Given the description of an element on the screen output the (x, y) to click on. 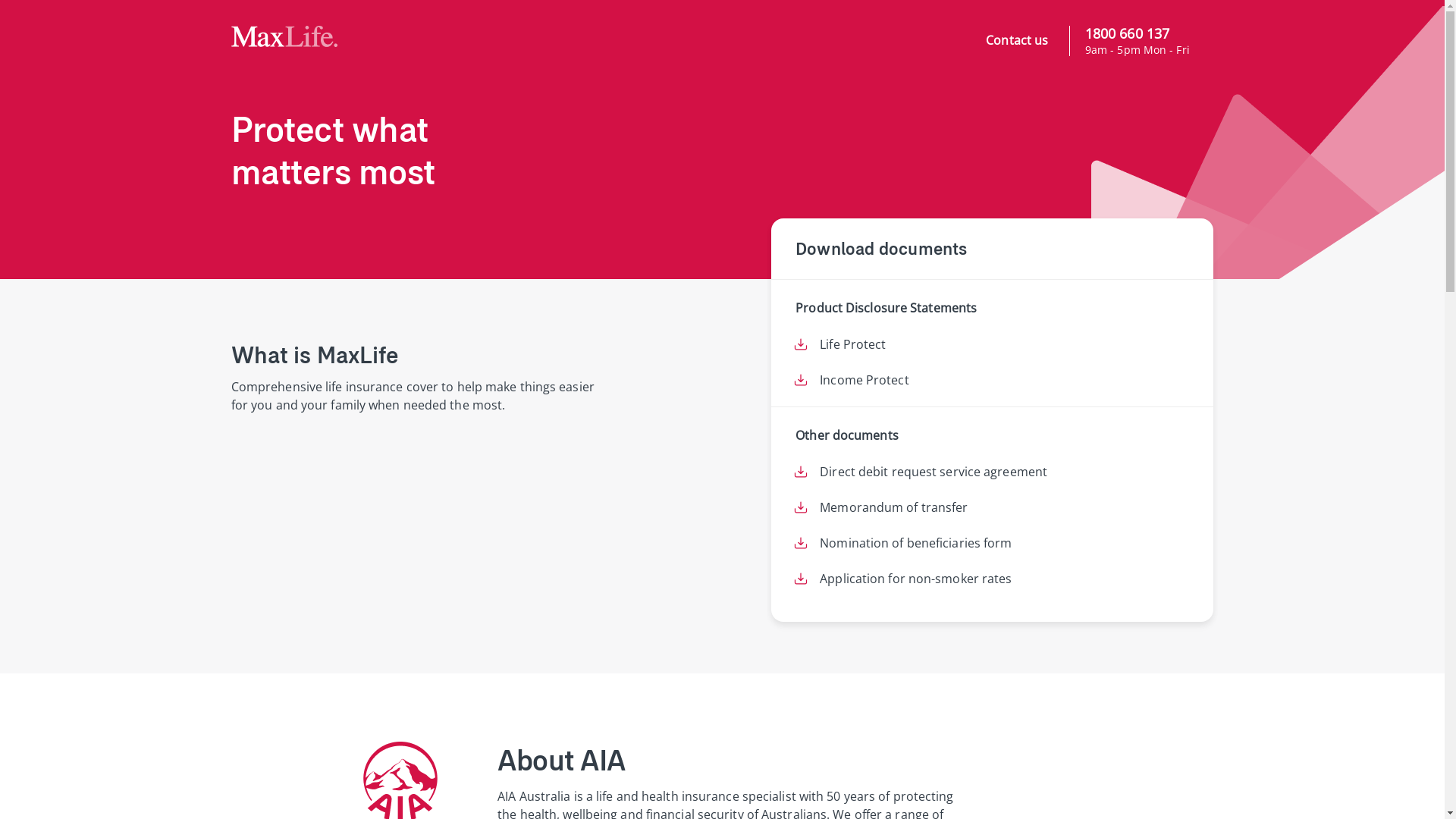
Memorandum of transfer Element type: text (893, 506)
Application for non-smoker rates Element type: text (915, 578)
Nomination of beneficiaries form Element type: text (915, 542)
Life Protect Element type: text (852, 343)
Direct debit request service agreement Element type: text (933, 471)
Income Protect Element type: text (863, 379)
